Given the description of an element on the screen output the (x, y) to click on. 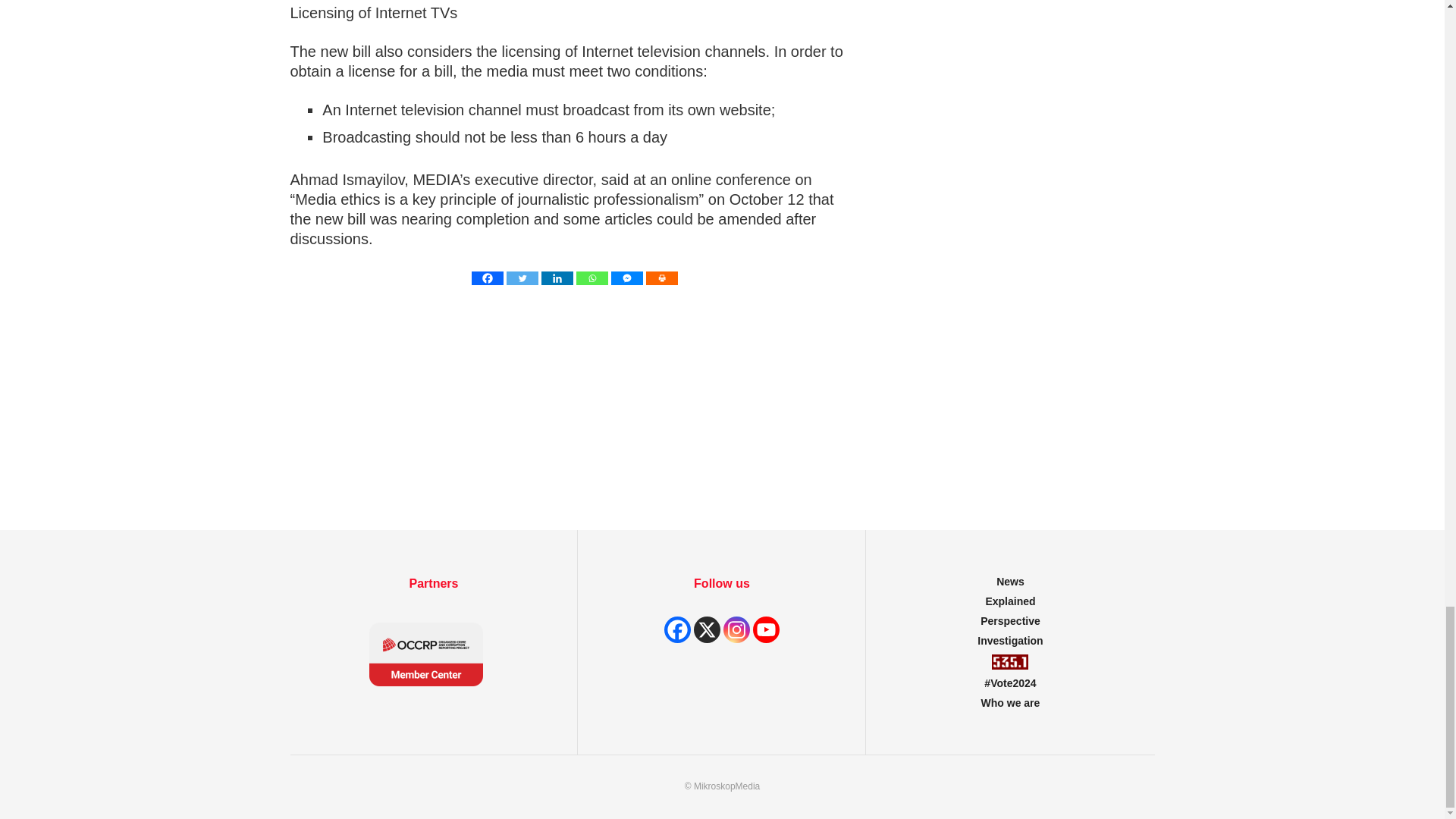
Linkedin (557, 278)
Facebook (676, 629)
Print (662, 278)
Instagram (736, 629)
Facebook (487, 278)
Twitter (522, 278)
Whatsapp (592, 278)
Youtube (765, 629)
X (707, 629)
